Given the description of an element on the screen output the (x, y) to click on. 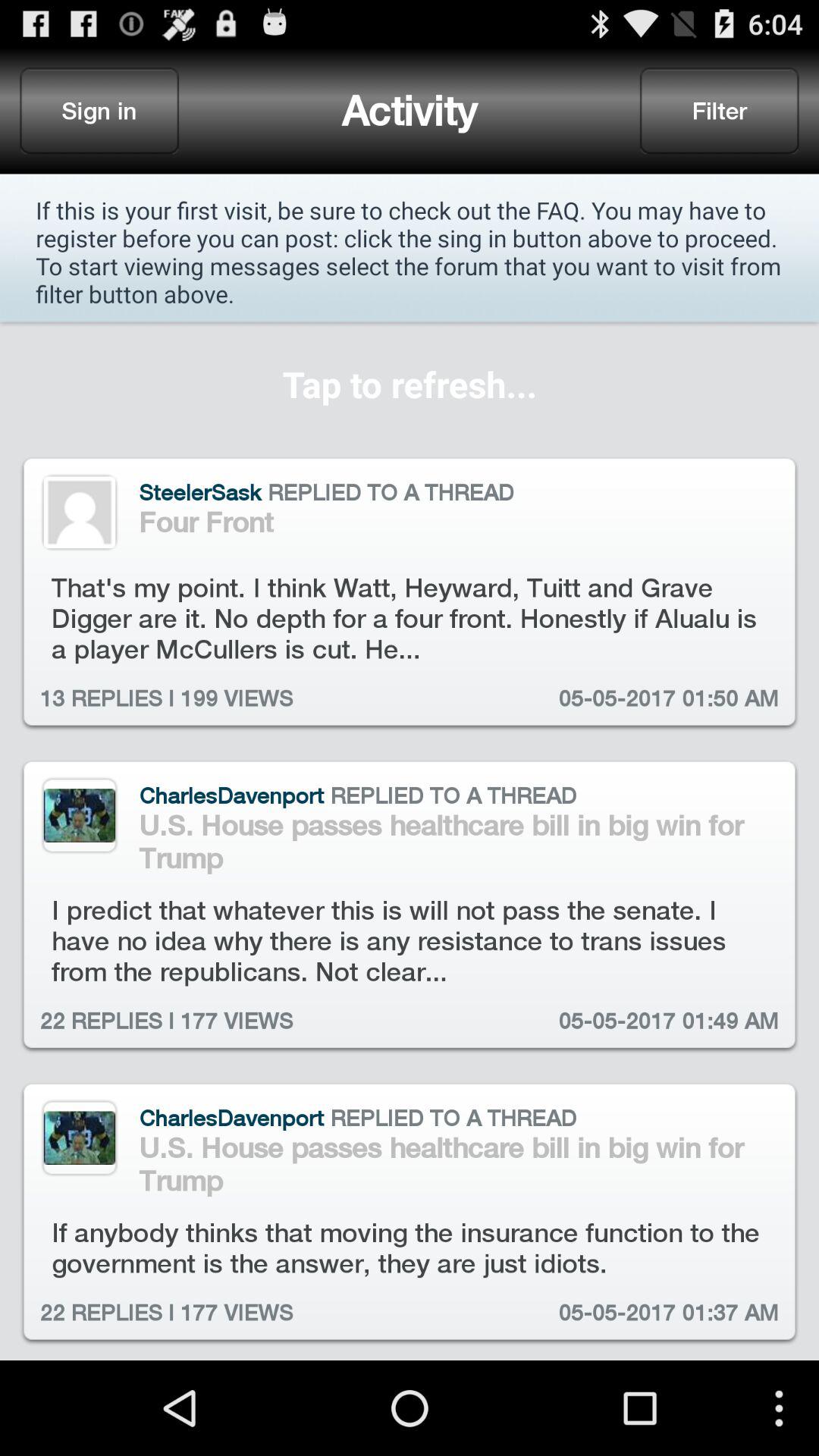
go to profile (79, 815)
